Given the description of an element on the screen output the (x, y) to click on. 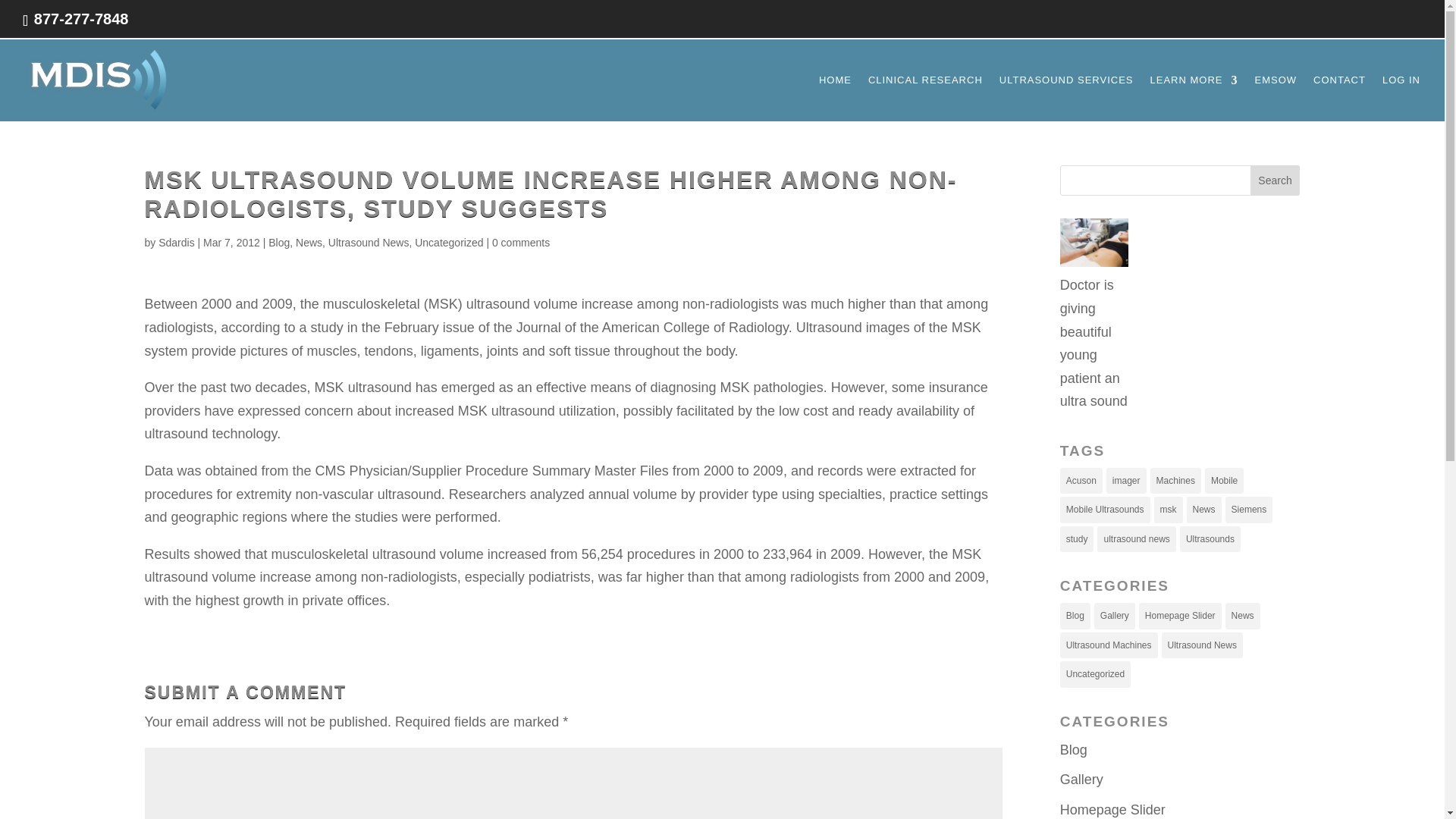
Search (1275, 180)
imager (1126, 480)
Uncategorized (448, 242)
Search (1275, 180)
Mobile Ultrasounds (1104, 509)
ULTRASOUND SERVICES (1066, 98)
Mobile (1224, 480)
Sdardis (175, 242)
170030225 (1093, 245)
Ultrasound News (369, 242)
News (308, 242)
EMSOW (1275, 98)
Acuson (1080, 480)
LEARN MORE (1194, 98)
Machines (1175, 480)
